Given the description of an element on the screen output the (x, y) to click on. 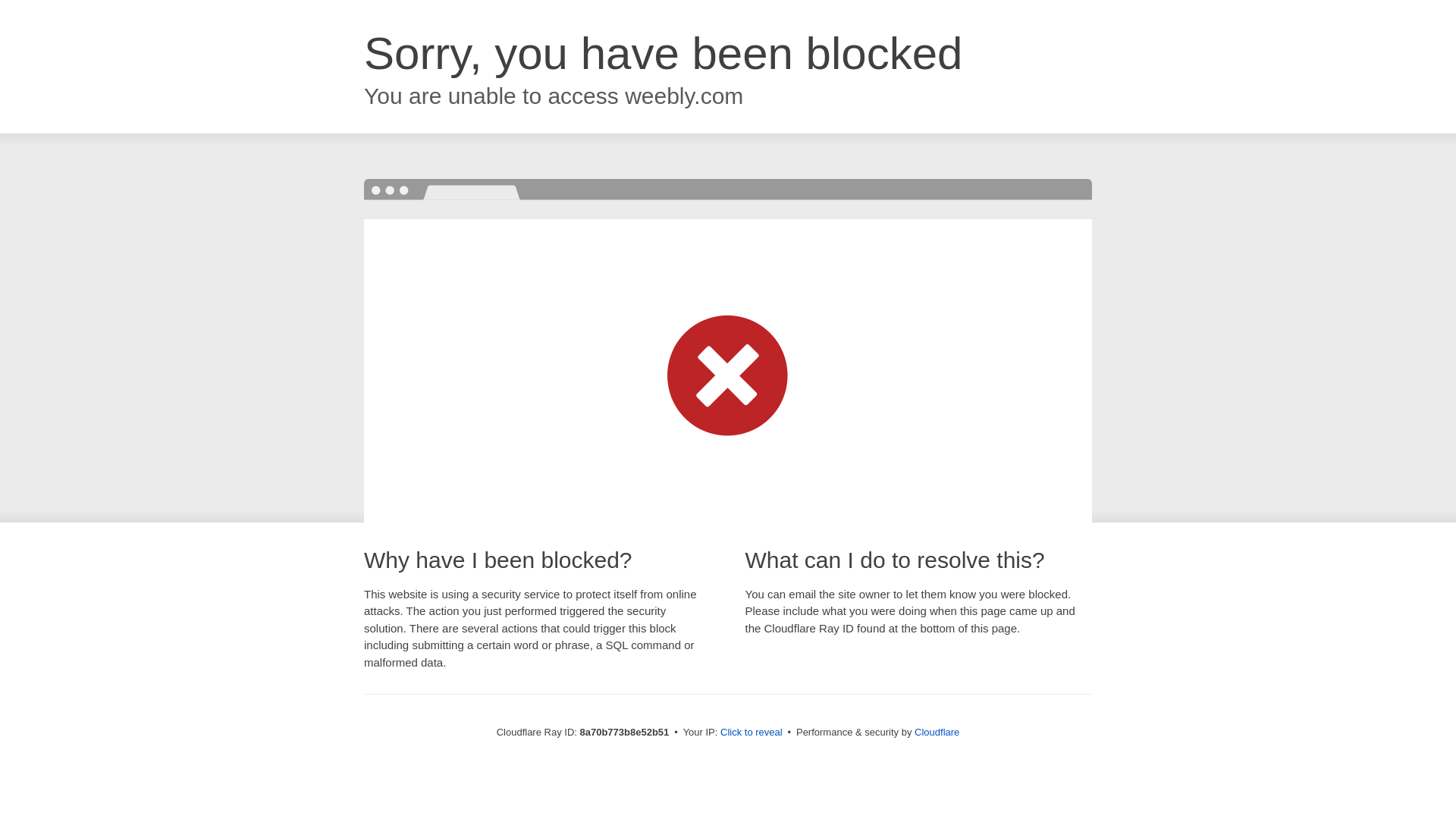
Cloudflare (936, 731)
Click to reveal (751, 732)
